Given the description of an element on the screen output the (x, y) to click on. 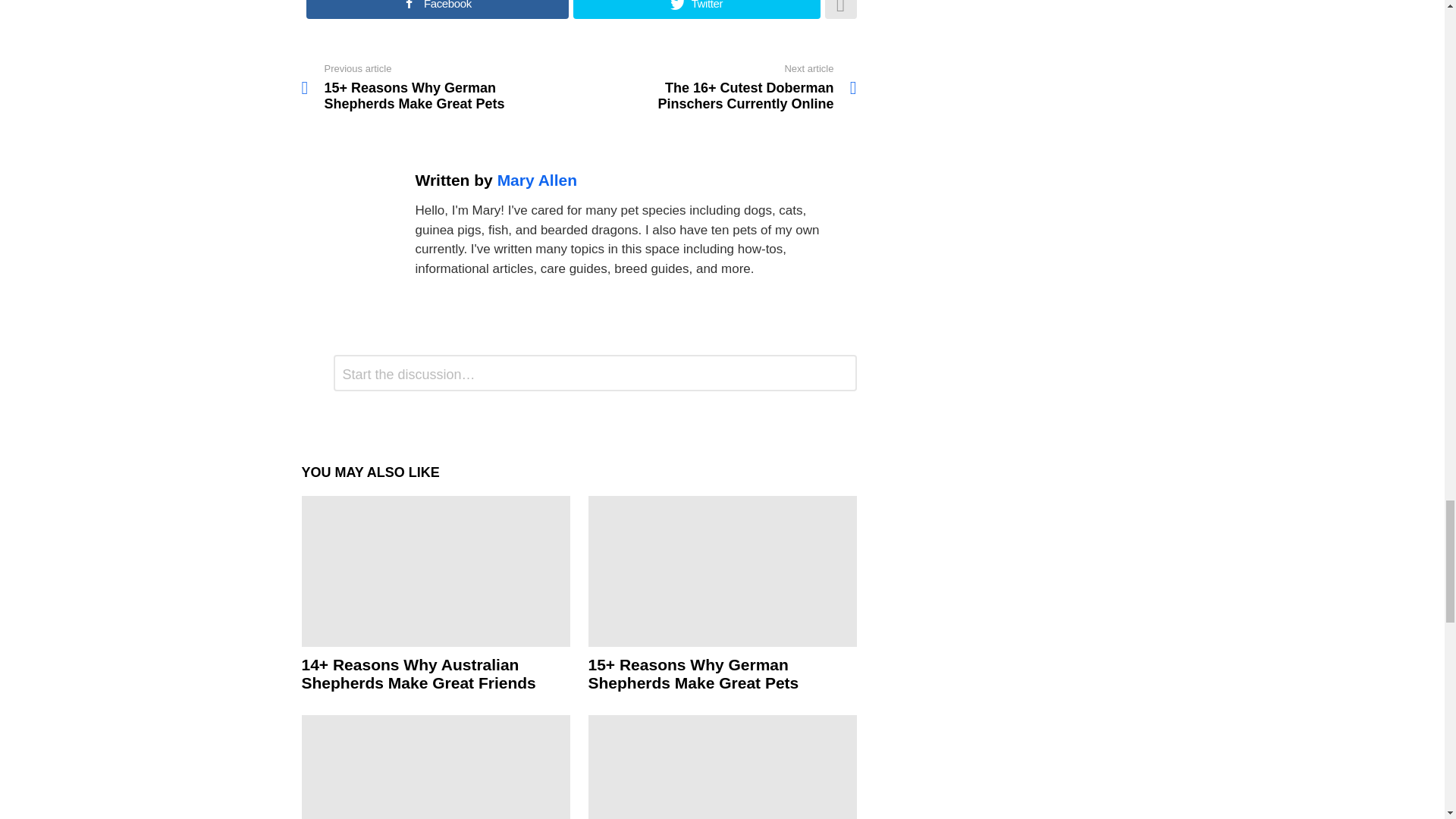
Mary Allen (536, 180)
Facebook (437, 9)
Twitter (696, 9)
